Given the description of an element on the screen output the (x, y) to click on. 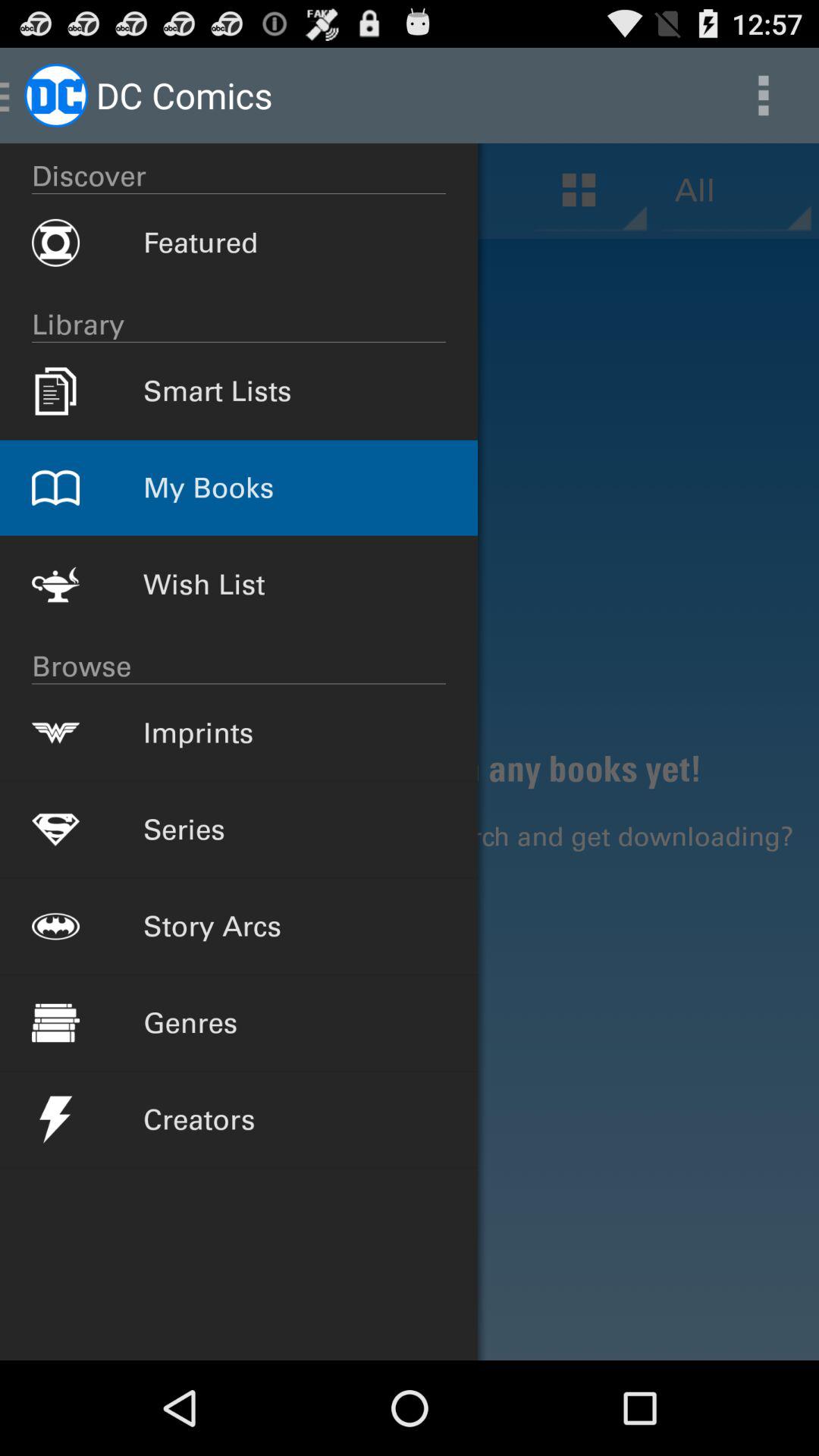
click on the three dots on the top right (763, 95)
